Given the description of an element on the screen output the (x, y) to click on. 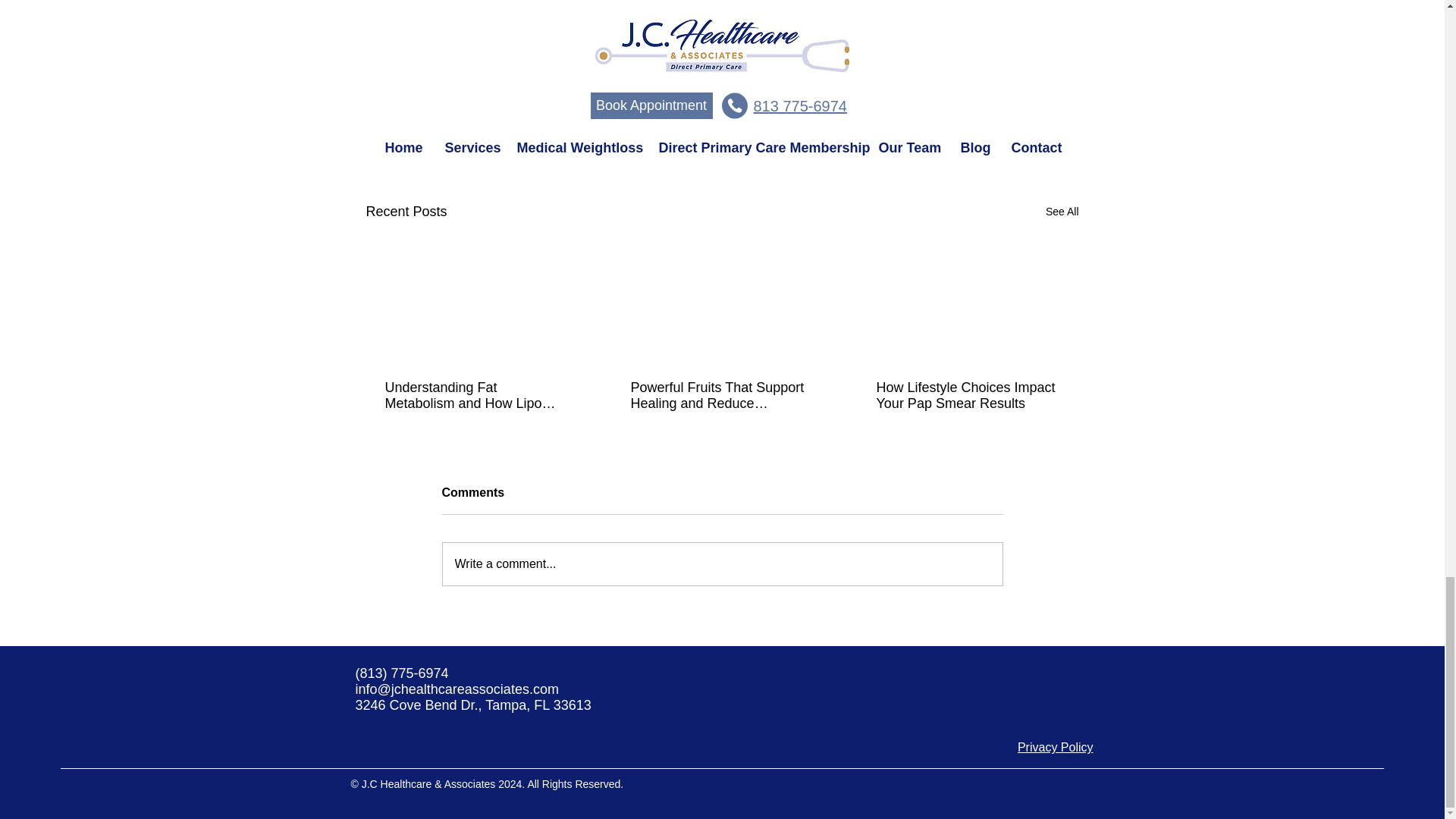
Write a comment... (722, 563)
book your appointment today. (557, 4)
Powerful Fruits That Support Healing and Reduce Inflammation (721, 395)
How Lifestyle Choices Impact Your Pap Smear Results (967, 395)
See All (1061, 211)
